Given the description of an element on the screen output the (x, y) to click on. 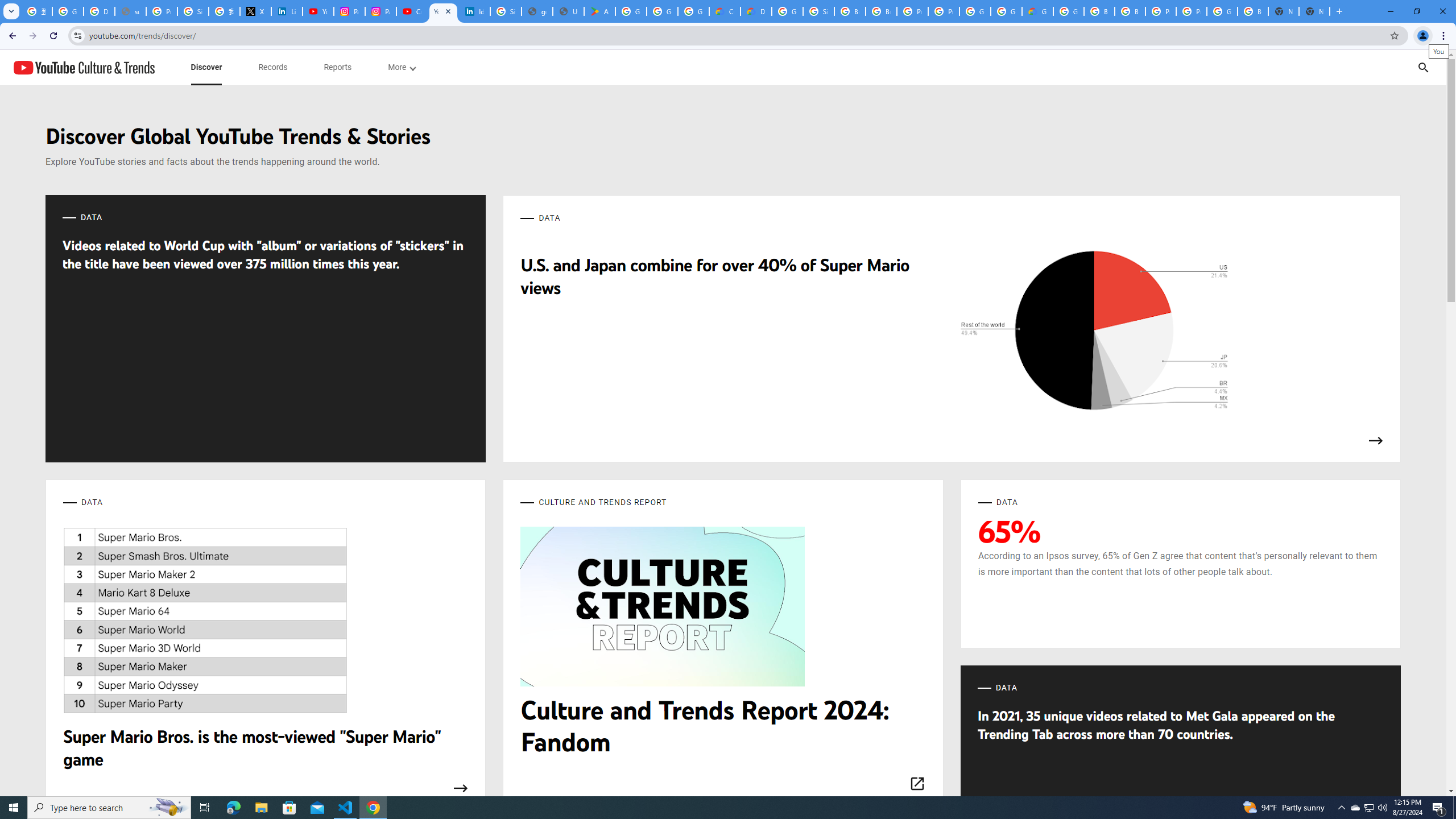
subnav-More menupopup (401, 67)
Google Workspace - Specific Terms (662, 11)
